Given the description of an element on the screen output the (x, y) to click on. 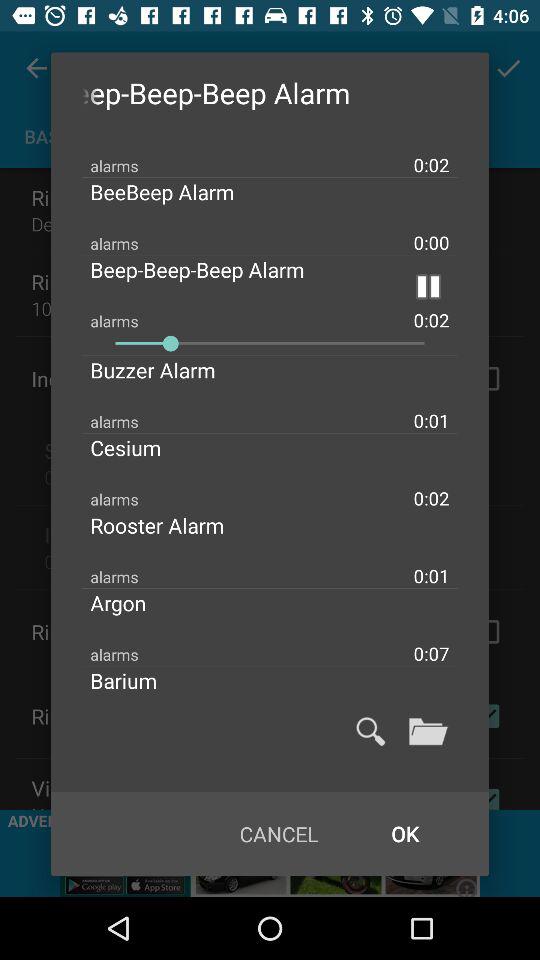
look thru files (428, 731)
